Given the description of an element on the screen output the (x, y) to click on. 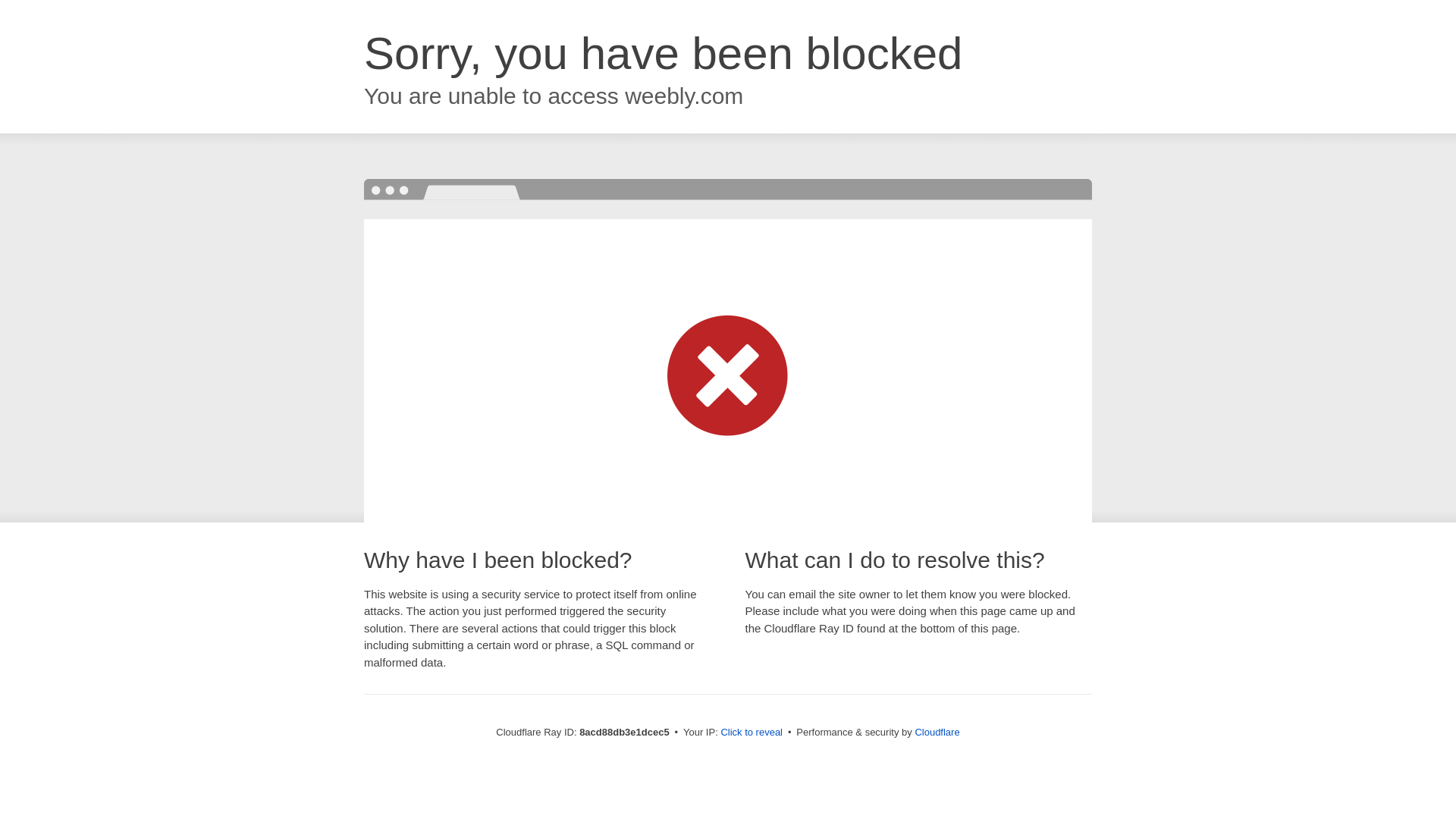
Cloudflare (936, 731)
Click to reveal (751, 732)
